Given the description of an element on the screen output the (x, y) to click on. 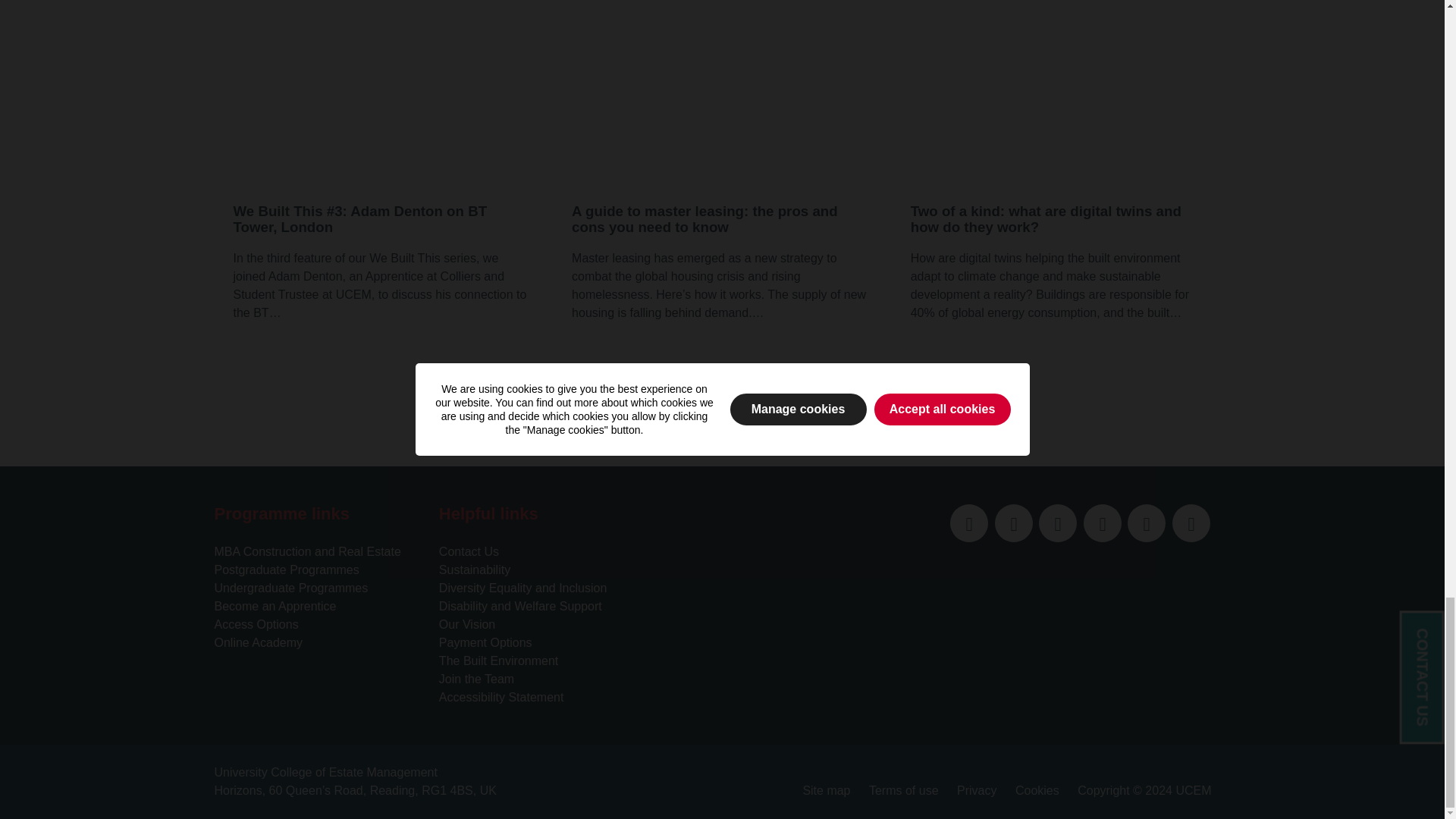
View our TikTok page (1190, 523)
View our Instagram page (1146, 523)
View our LinkedIn page (1013, 523)
View our Facebook page (1058, 523)
View our YouTube channel (1102, 523)
View our Twitter page (969, 523)
